Given the description of an element on the screen output the (x, y) to click on. 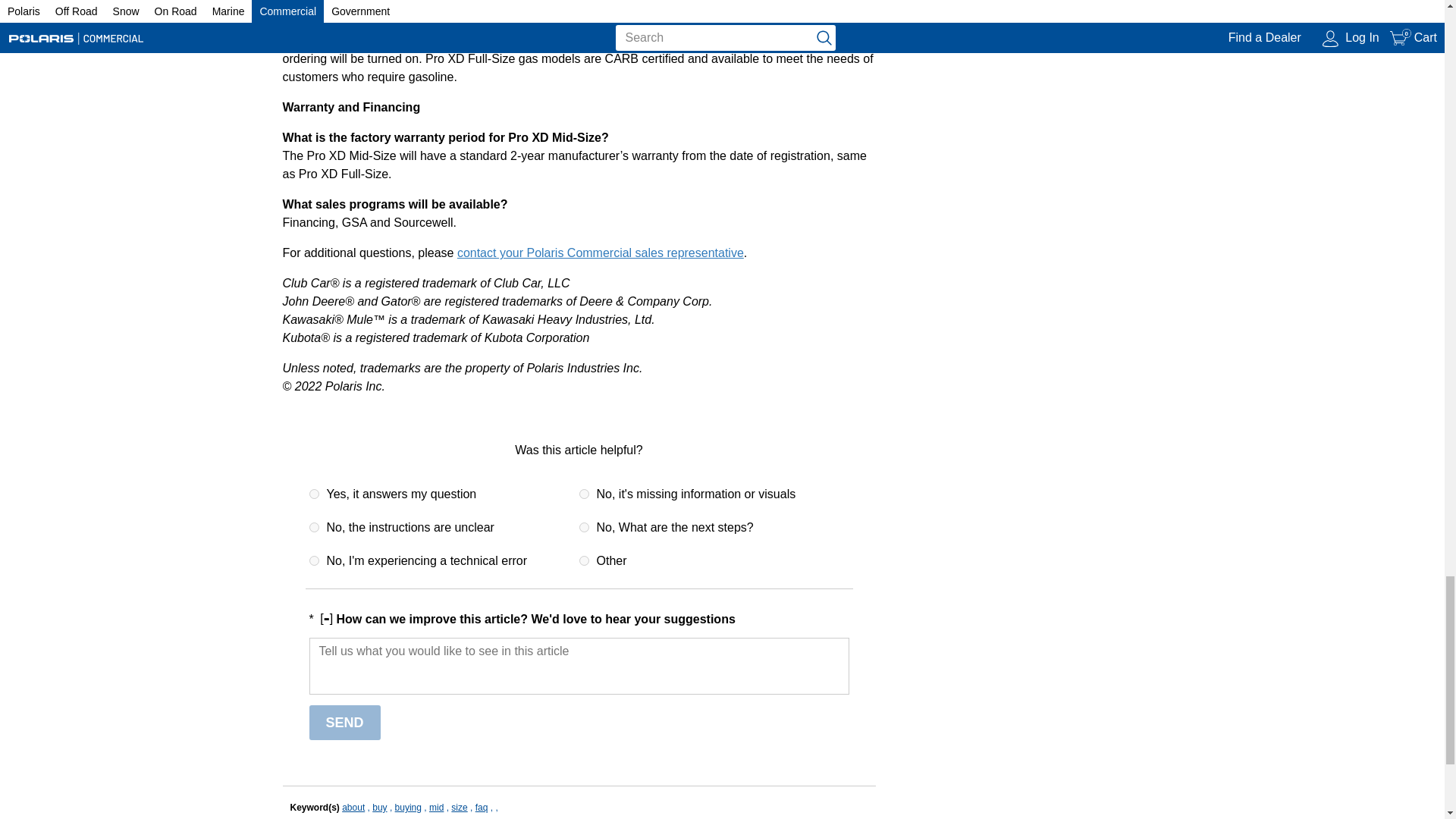
No. I am experiencing a technical error (313, 560)
Yes. It answers my question (313, 493)
No. What are the next steps? (584, 527)
No. The instructions are unclear (313, 527)
No. It is missing information or visuals (584, 493)
Other (584, 560)
